Given the description of an element on the screen output the (x, y) to click on. 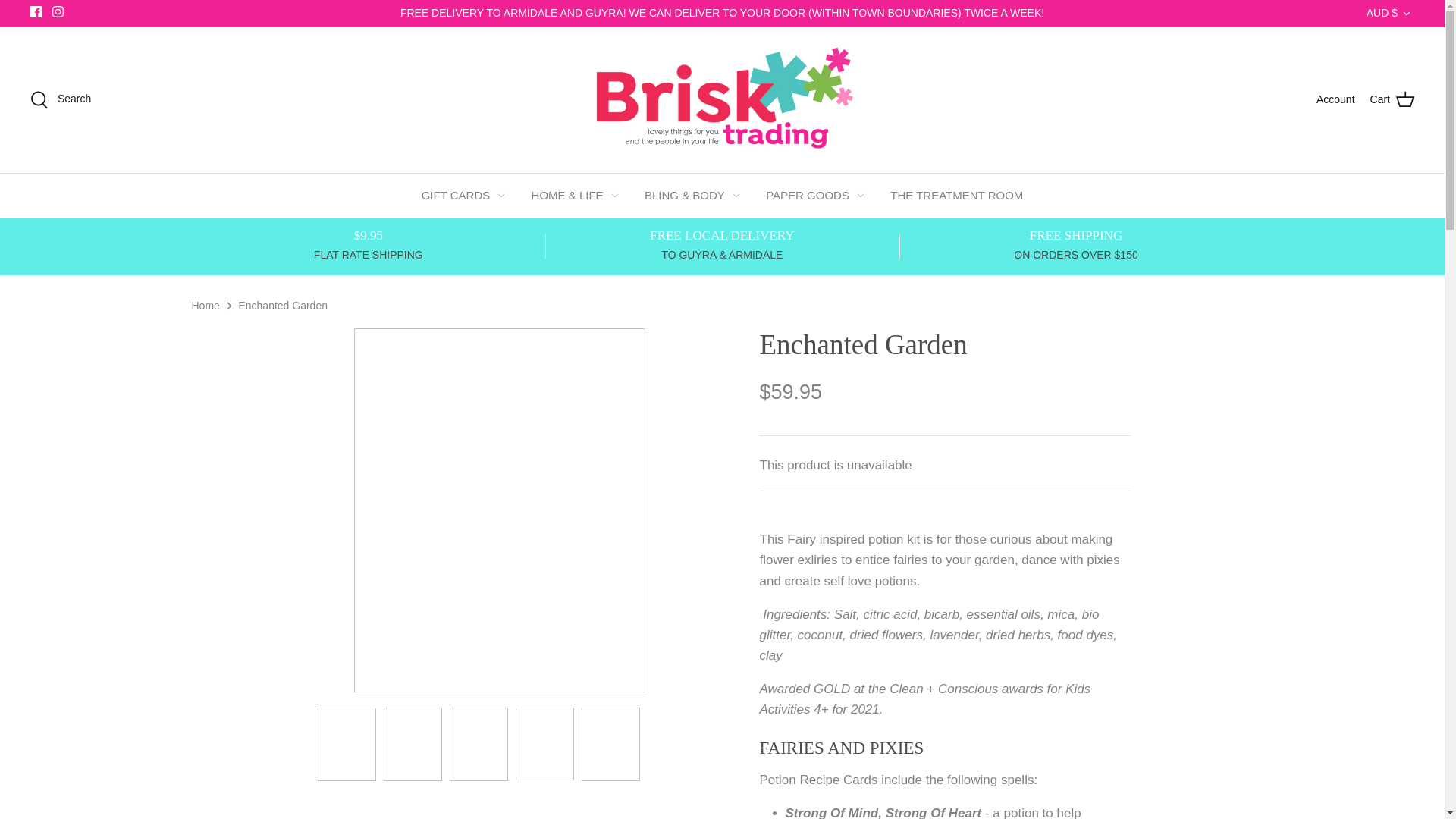
Toggle menu (735, 195)
Down (1406, 13)
Facebook (36, 11)
Facebook (36, 11)
GIFT CARDS (455, 195)
Cart (1391, 98)
Toggle menu (501, 195)
Toggle menu (861, 195)
Account (1335, 98)
Instagram (58, 11)
